Given the description of an element on the screen output the (x, y) to click on. 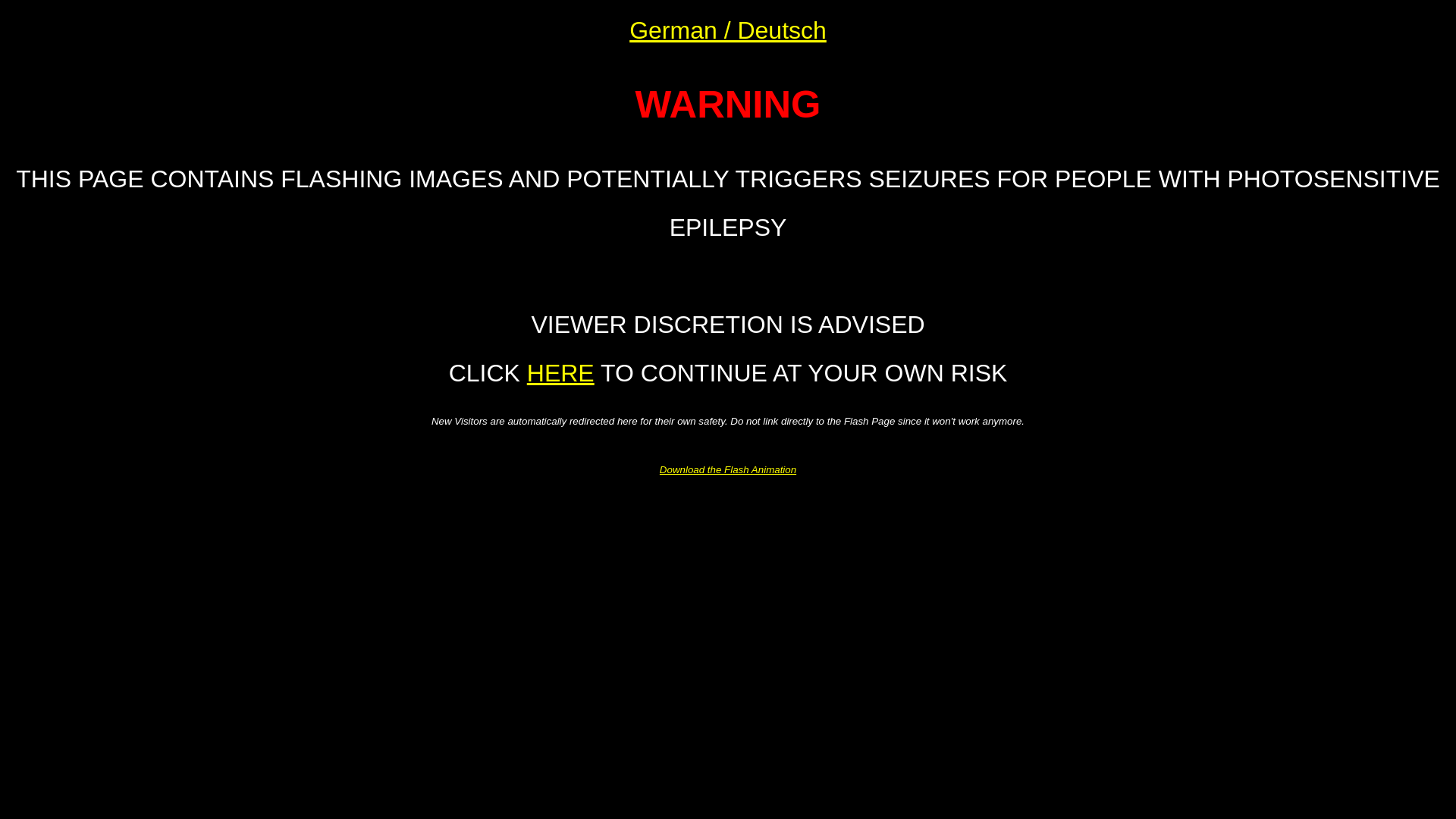
German / Deutsch Element type: text (727, 29)
HERE Element type: text (560, 372)
Download the Flash Animation Element type: text (727, 469)
